Given the description of an element on the screen output the (x, y) to click on. 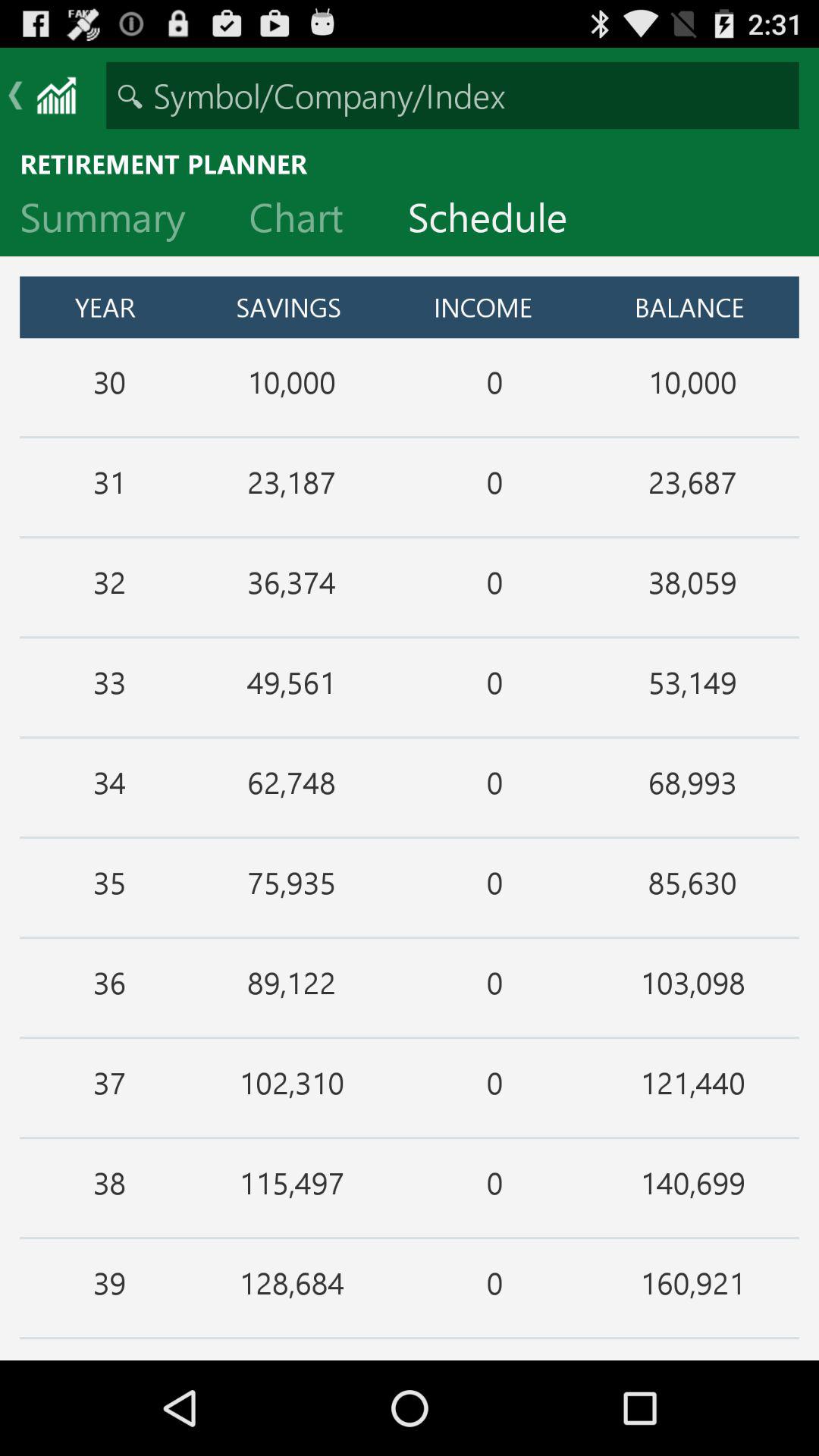
press the item to the left of schedule (308, 220)
